Given the description of an element on the screen output the (x, y) to click on. 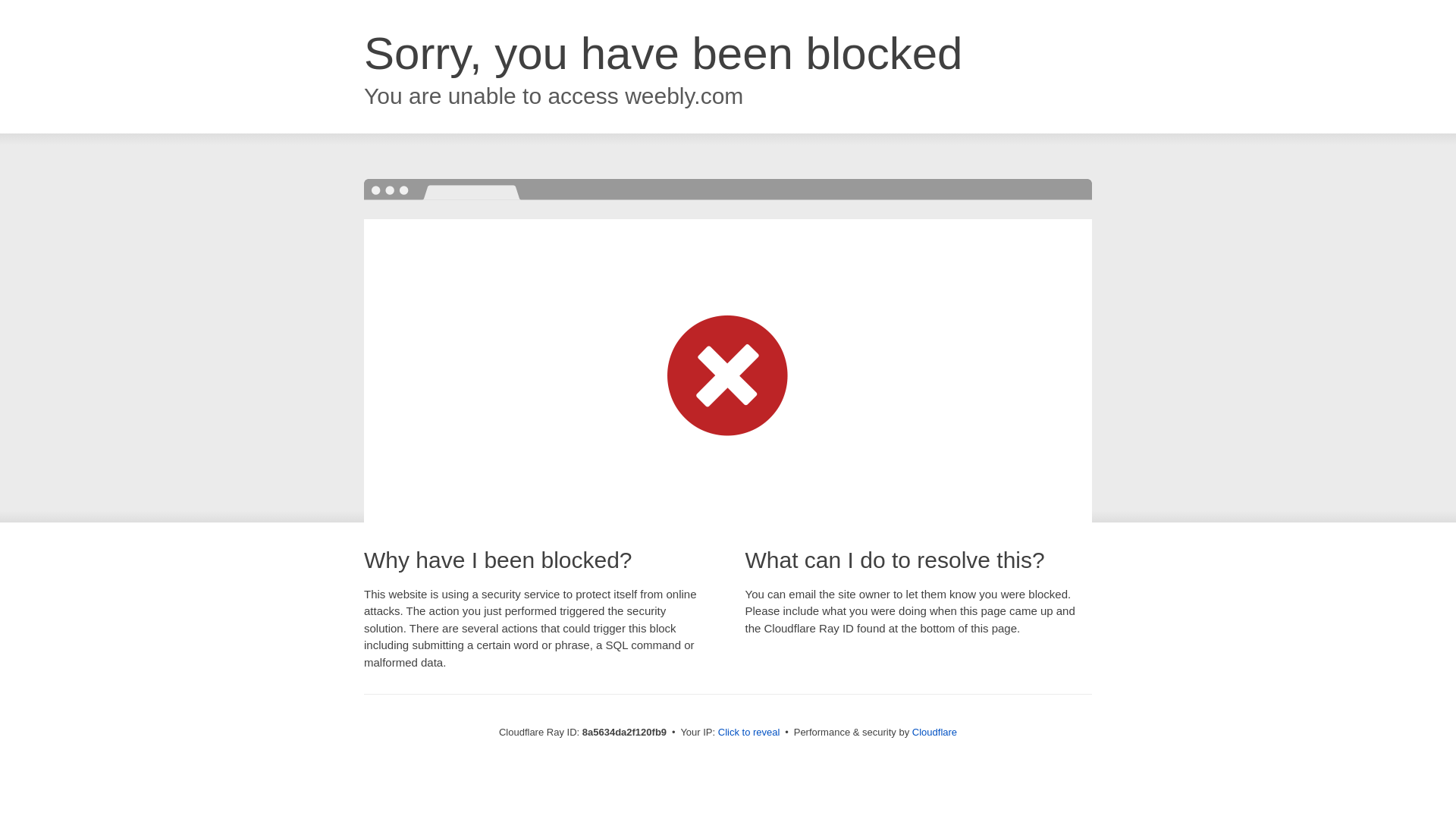
Cloudflare (934, 731)
Click to reveal (748, 732)
